Given the description of an element on the screen output the (x, y) to click on. 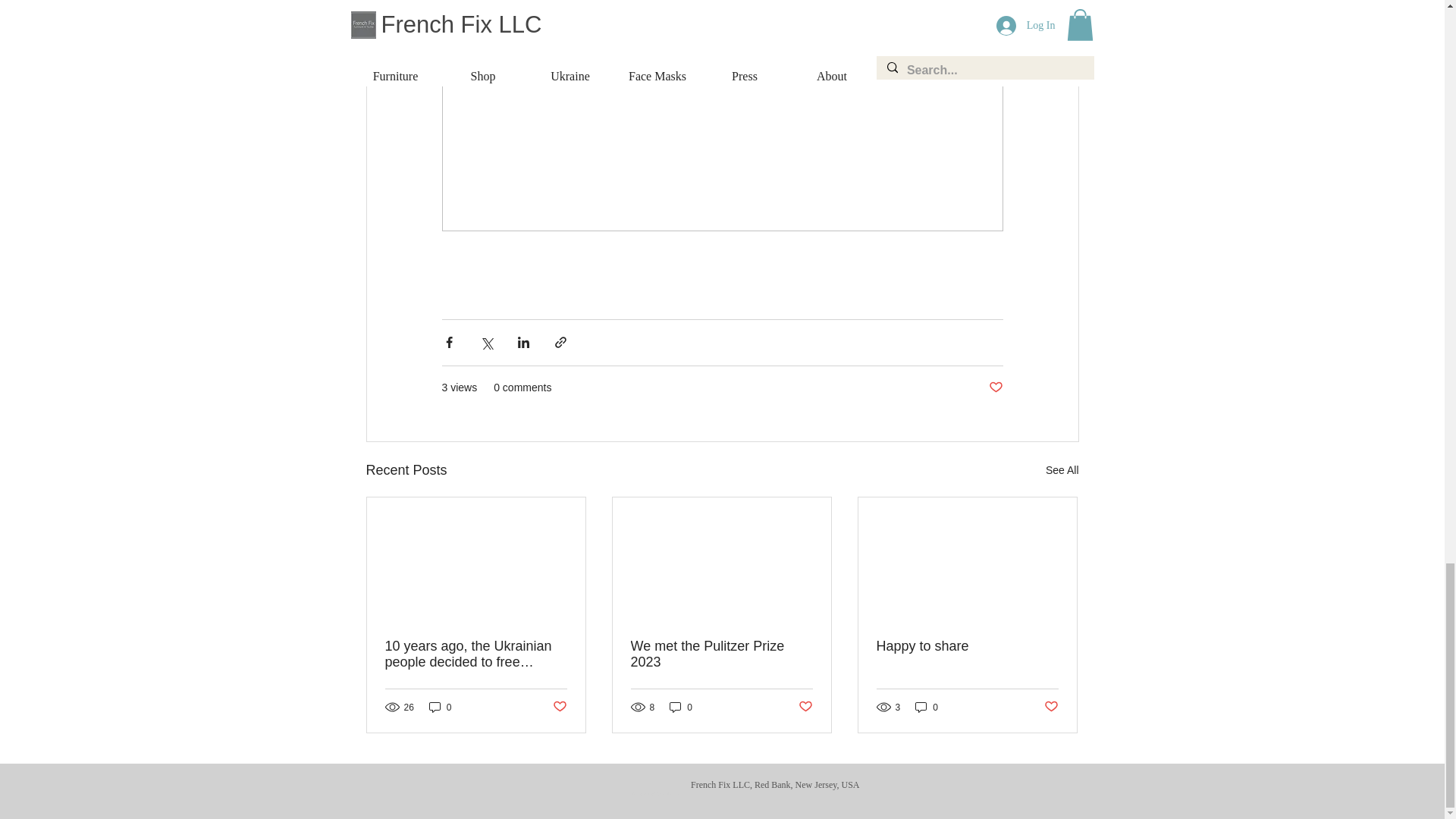
See All (1061, 469)
0 (440, 707)
Post not marked as liked (558, 706)
We met the Pulitzer Prize 2023 (721, 653)
0 (681, 707)
Post not marked as liked (804, 706)
Post not marked as liked (995, 387)
